Given the description of an element on the screen output the (x, y) to click on. 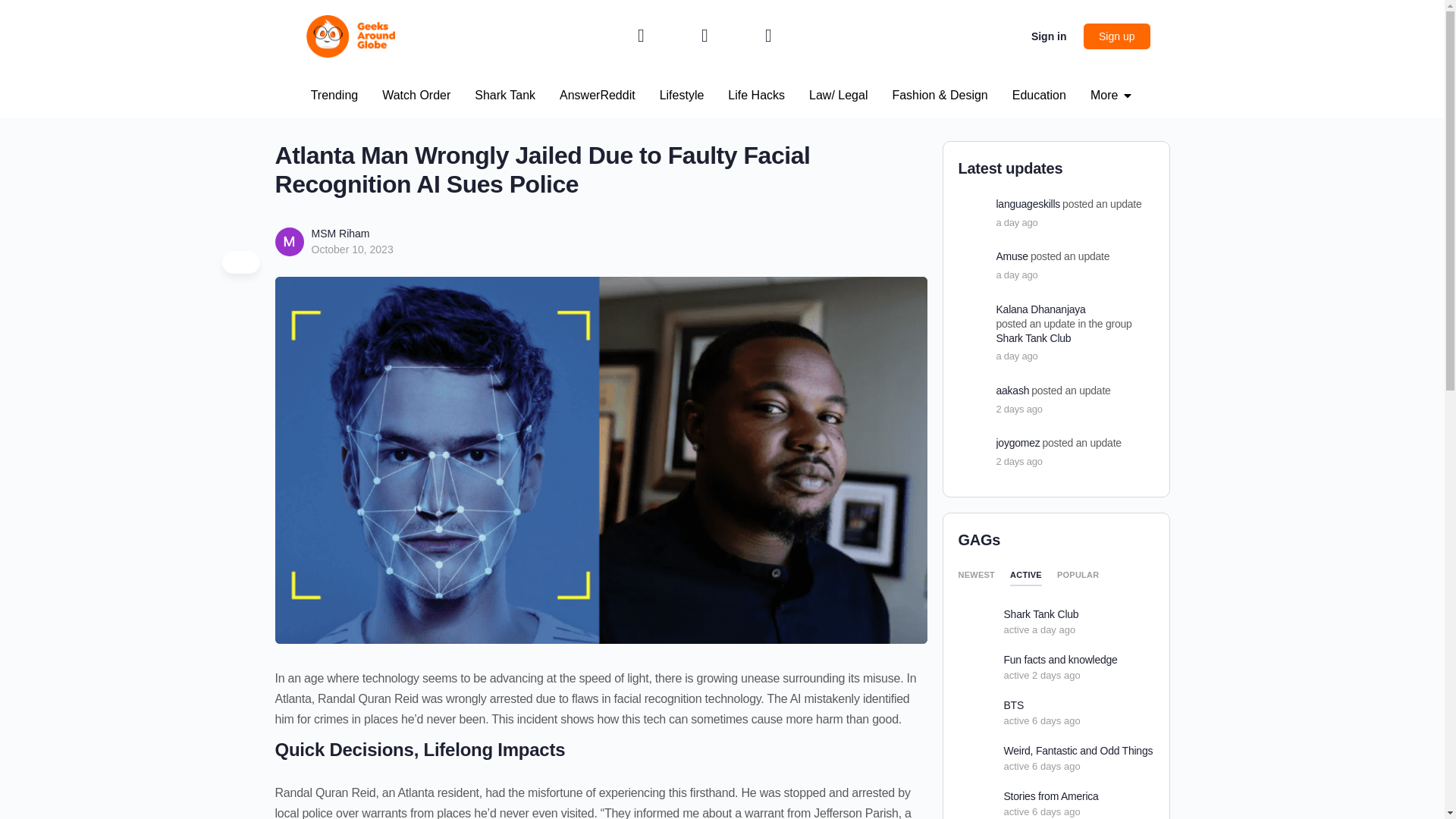
AnswerReddit (596, 95)
Trending (334, 95)
Watch Order (415, 95)
Lifestyle (681, 95)
Life Hacks (756, 95)
Education (1038, 95)
Shark Tank (504, 95)
Sign up (1116, 35)
Sign in (1048, 36)
